Given the description of an element on the screen output the (x, y) to click on. 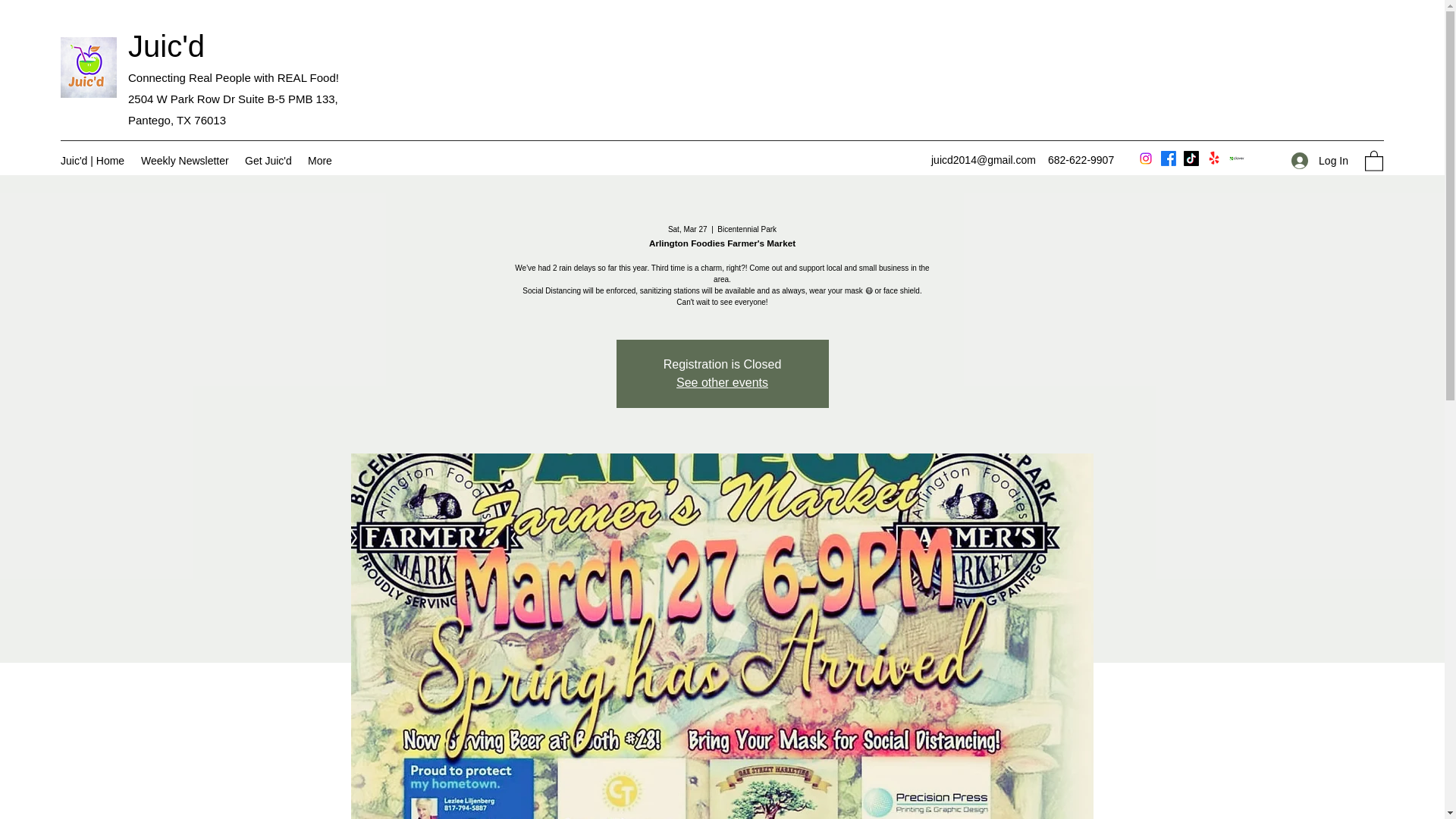
See other events (722, 382)
Log In (1319, 161)
Get Juic'd (268, 160)
Weekly Newsletter (185, 160)
Juic'd (166, 46)
